Given the description of an element on the screen output the (x, y) to click on. 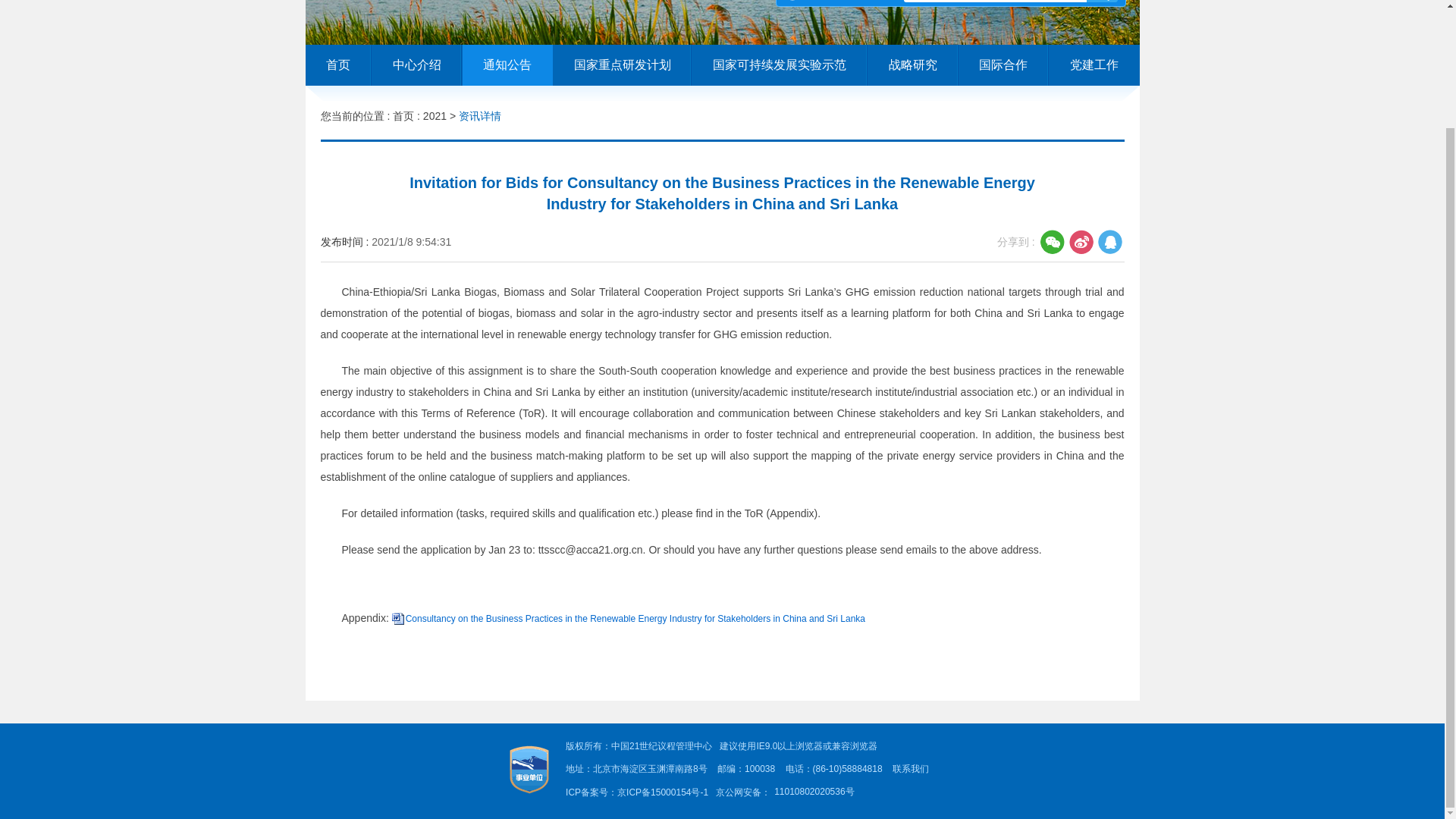
1stTOR-SriLanka0106.doc (635, 618)
